Given the description of an element on the screen output the (x, y) to click on. 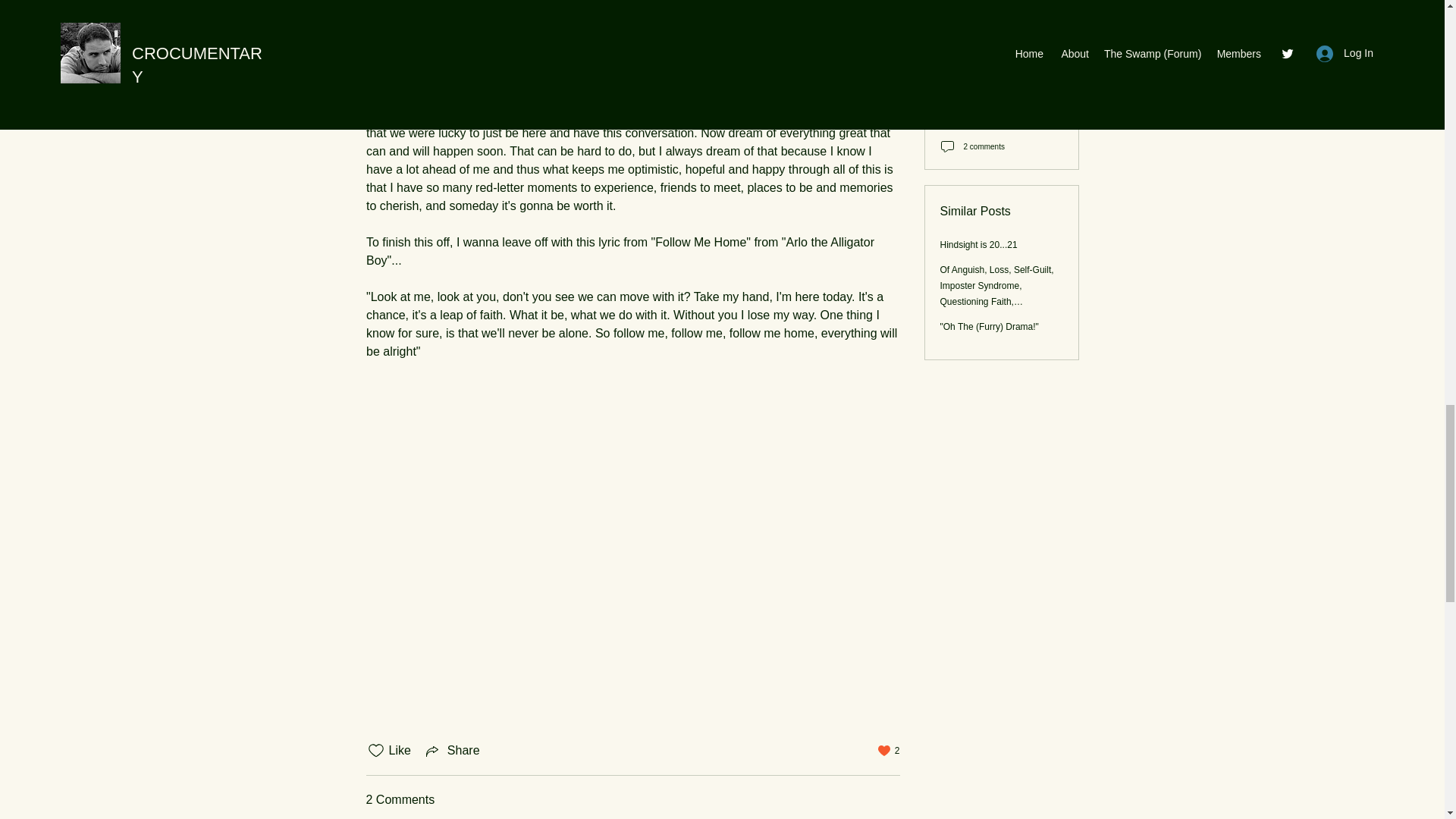
Share (451, 751)
2 (888, 750)
